Given the description of an element on the screen output the (x, y) to click on. 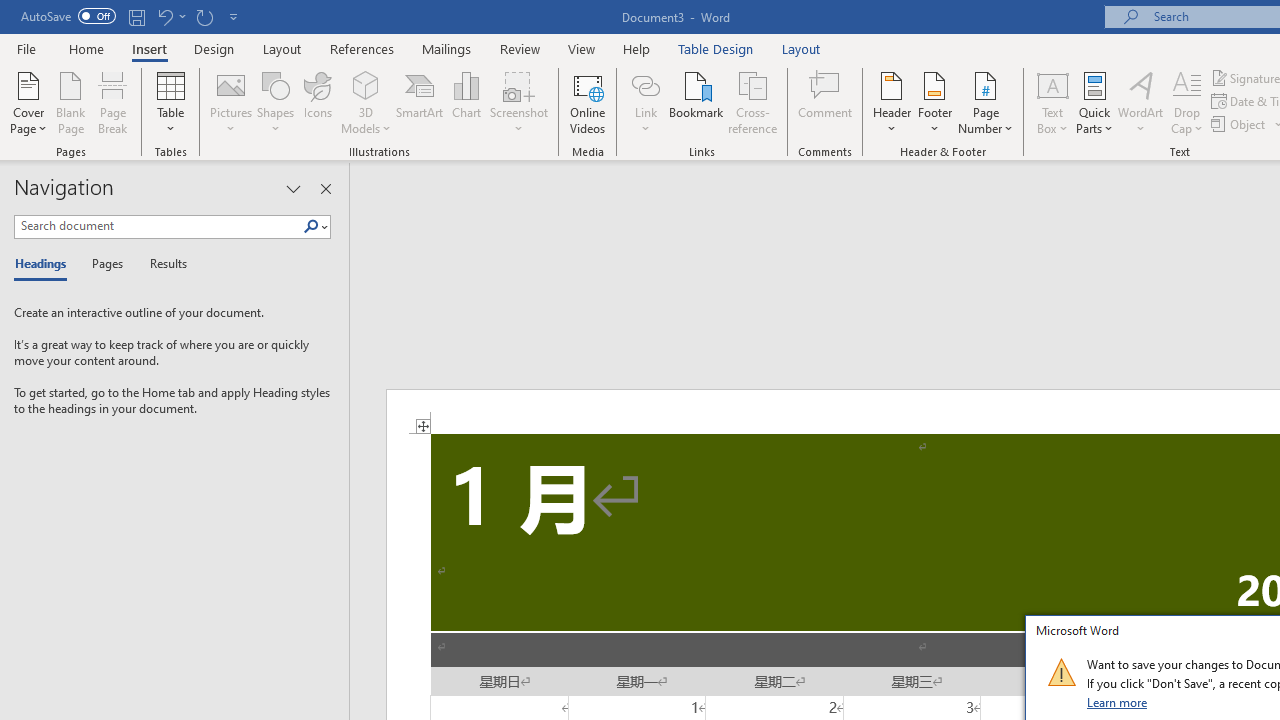
Page Break (113, 102)
Cross-reference... (752, 102)
Online Videos... (588, 102)
Pictures (230, 102)
Drop Cap (1187, 102)
Bookmark... (695, 102)
WordArt (1141, 102)
Comment (825, 102)
